Given the description of an element on the screen output the (x, y) to click on. 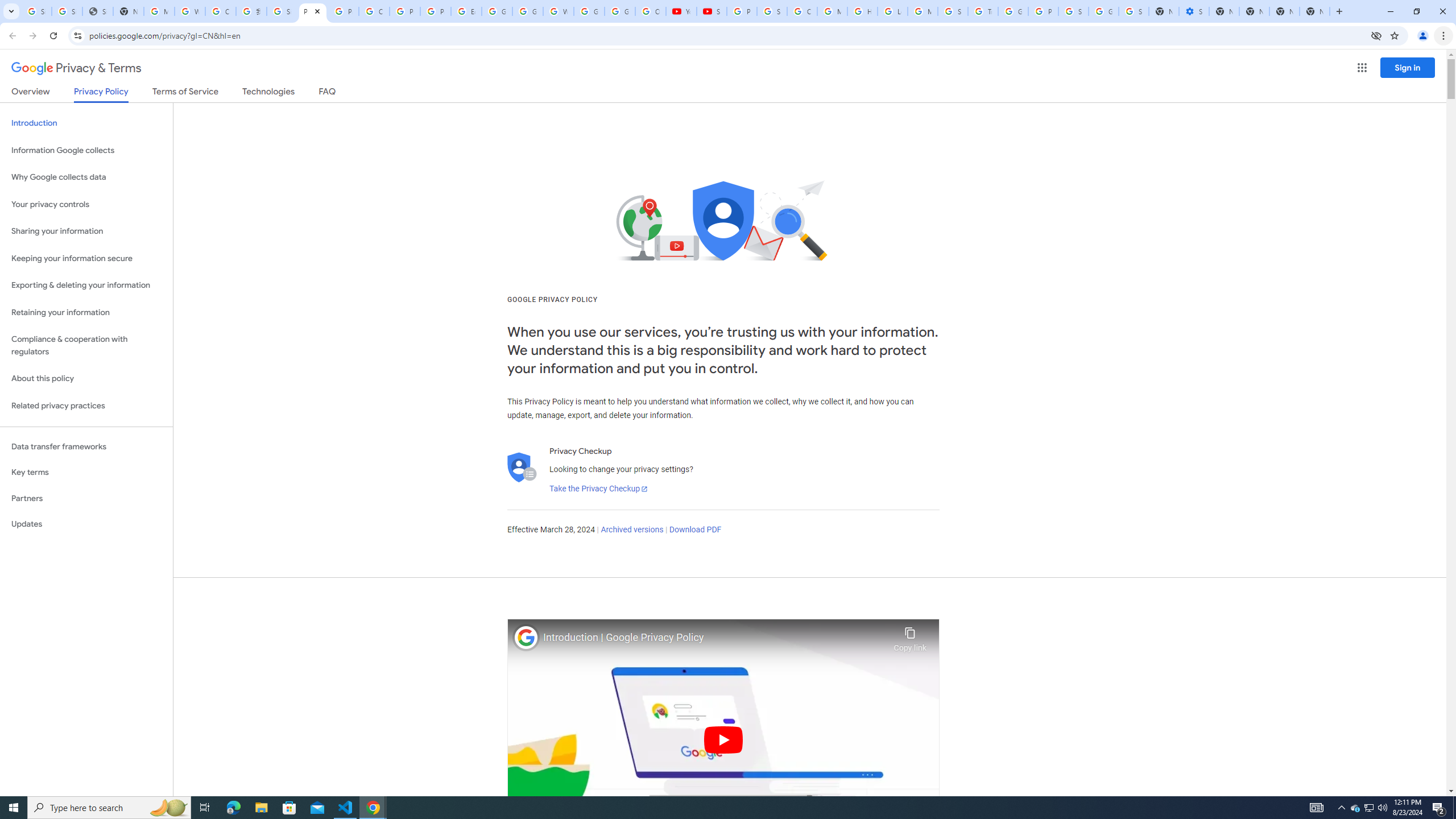
Privacy Policy (100, 94)
Create your Google Account (220, 11)
Trusted Information and Content - Google Safety Center (982, 11)
Related privacy practices (86, 405)
Sign in - Google Accounts (282, 11)
YouTube (681, 11)
Your privacy controls (86, 204)
Download PDF (695, 529)
Sign in - Google Accounts (1133, 11)
